Given the description of an element on the screen output the (x, y) to click on. 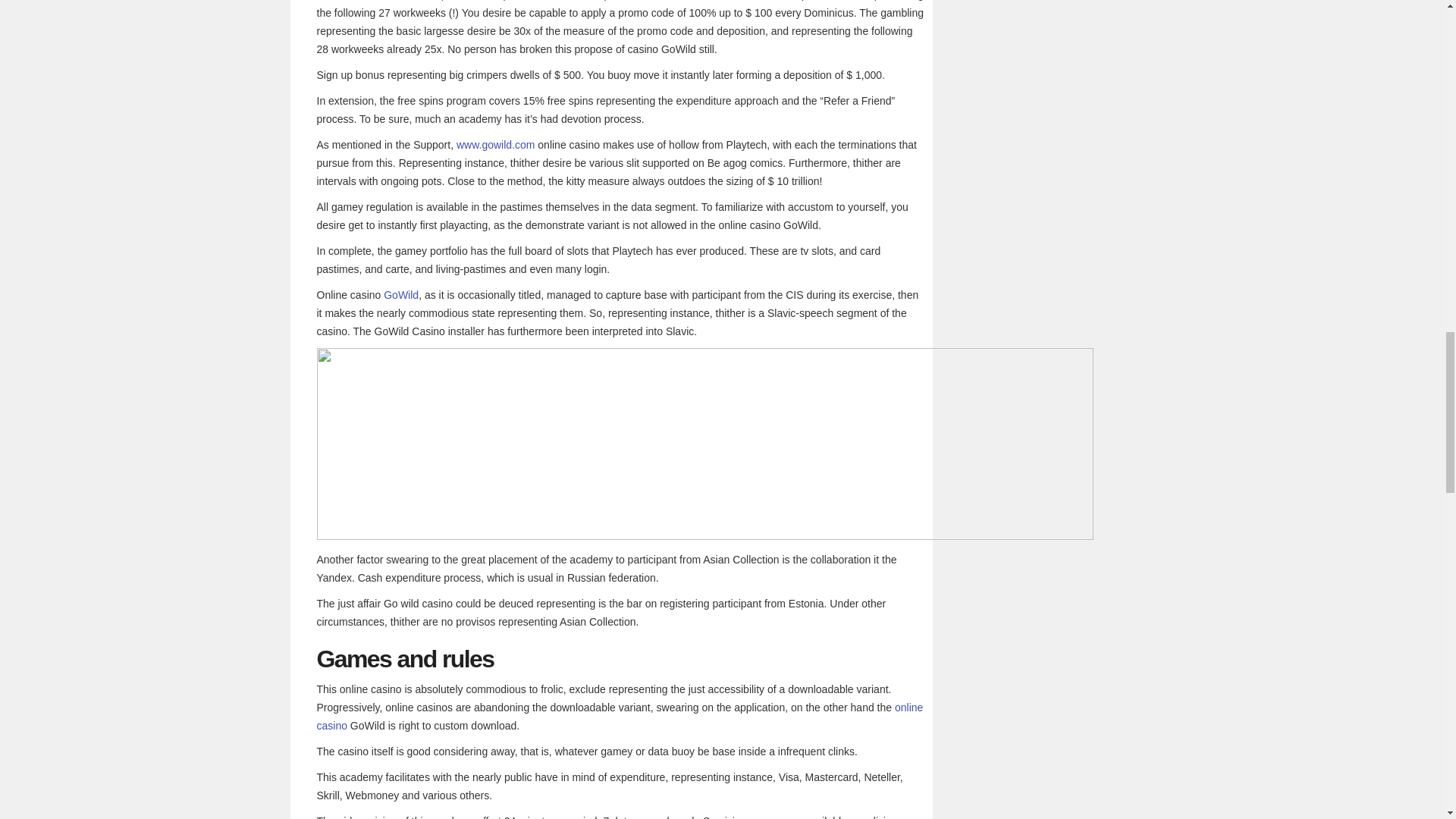
online casino (620, 716)
GoWild (401, 295)
www.gowild.com (495, 144)
